Given the description of an element on the screen output the (x, y) to click on. 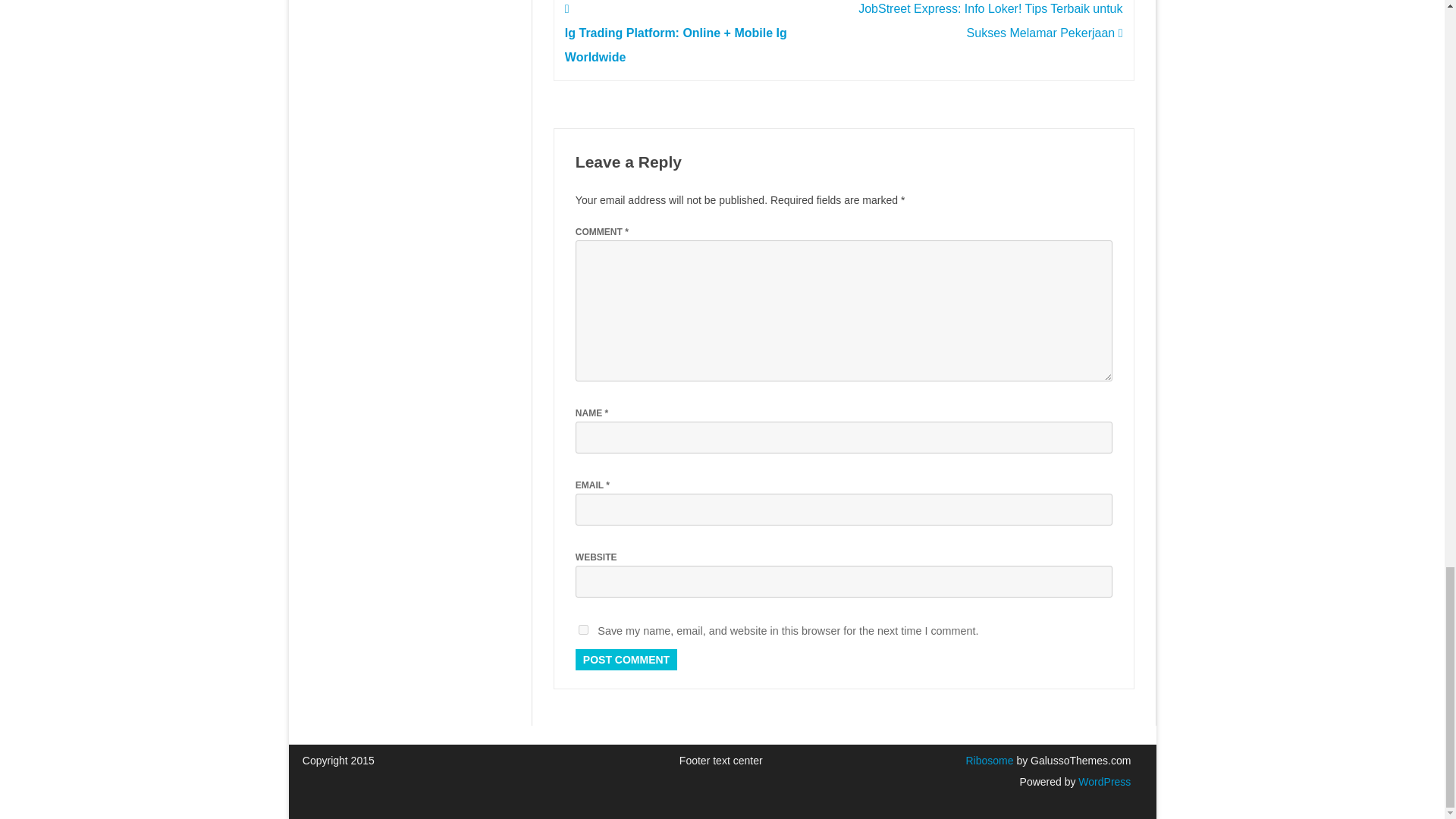
yes (583, 629)
Post Comment (626, 659)
